Given the description of an element on the screen output the (x, y) to click on. 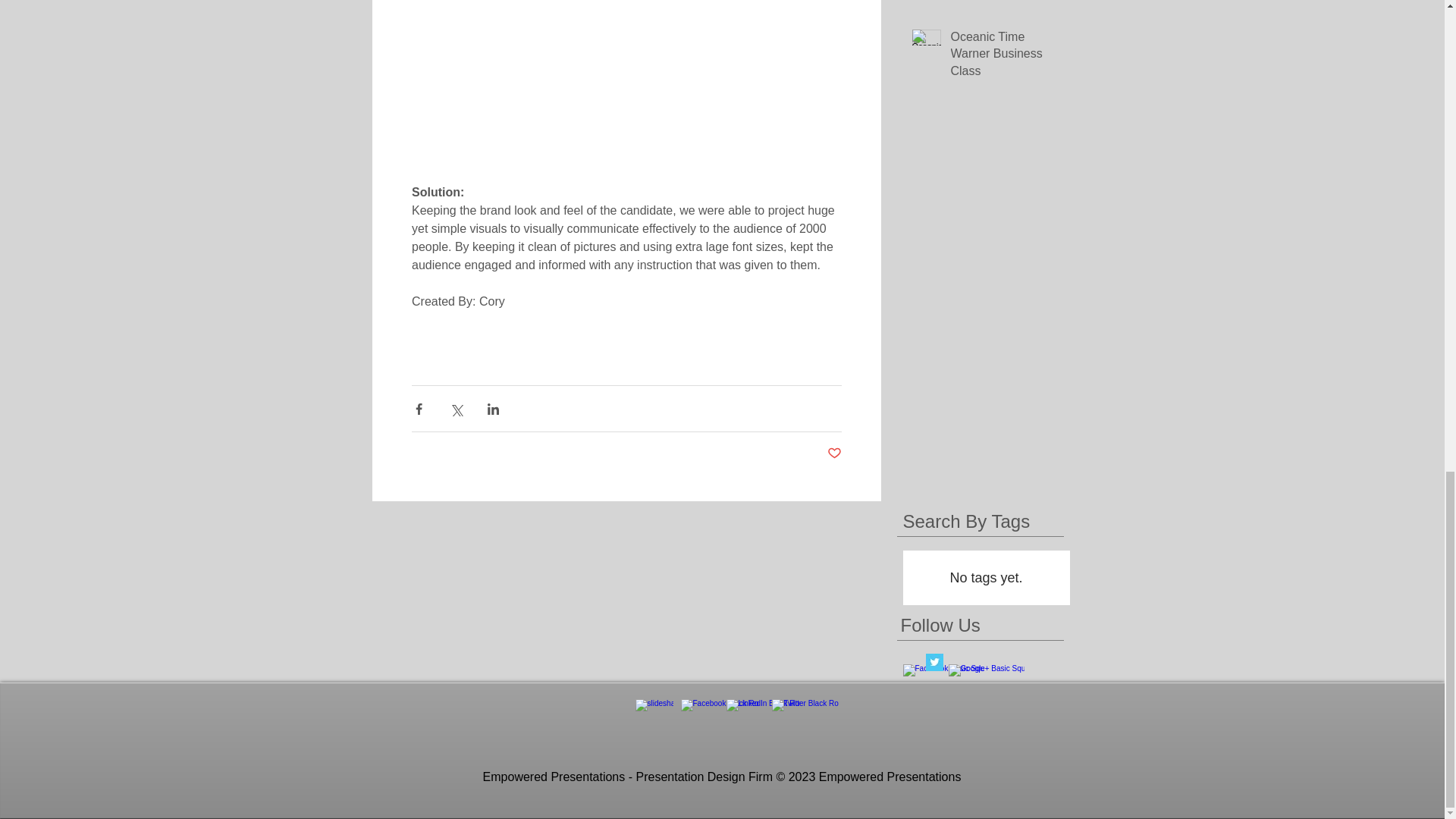
Oceanic Time Warner Business Class (1004, 56)
Post not marked as liked (834, 453)
